Given the description of an element on the screen output the (x, y) to click on. 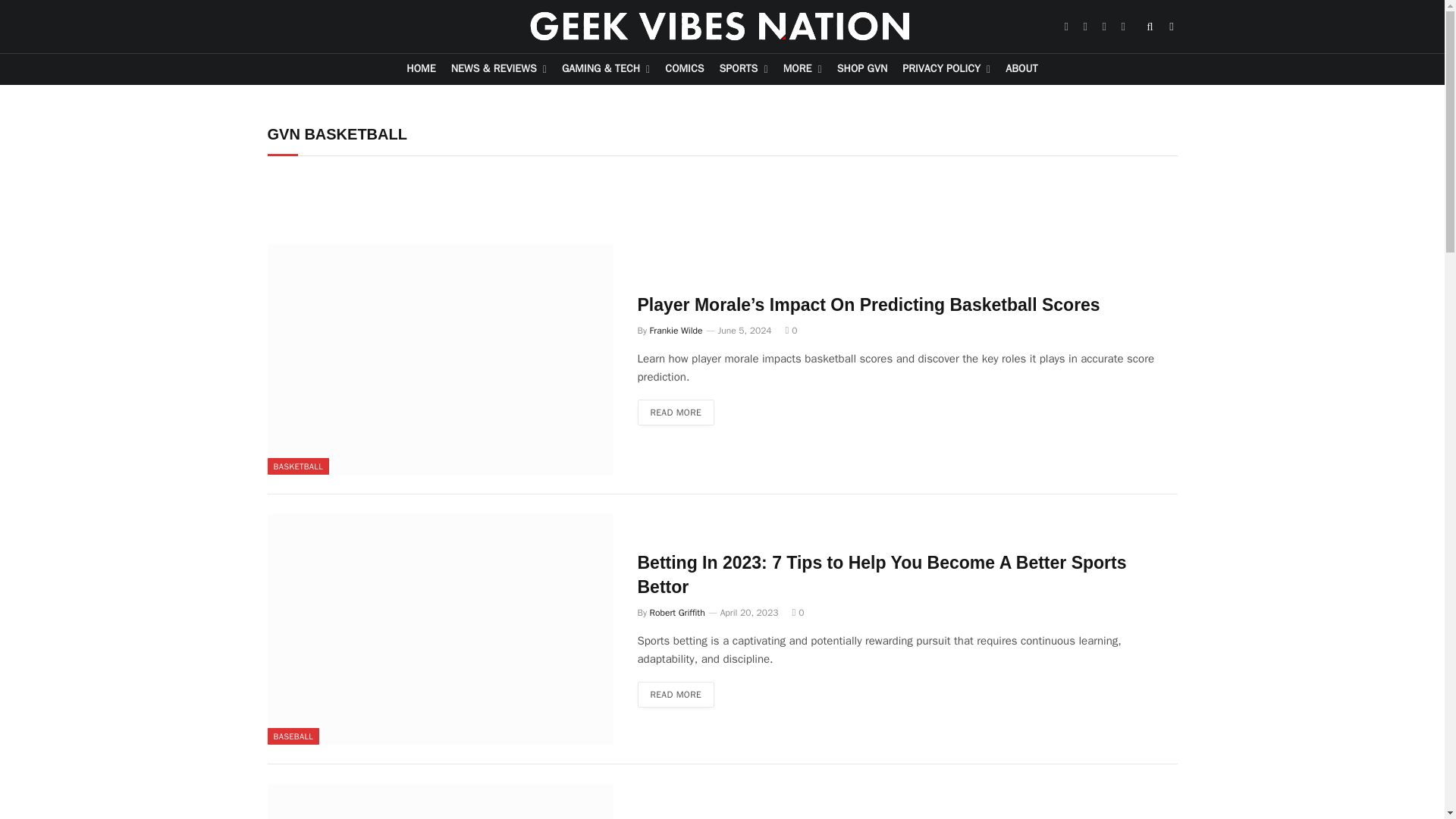
SHOP GVN (862, 69)
HOME (420, 69)
SPORTS (743, 69)
Instagram (1103, 26)
PRIVACY POLICY (946, 69)
MORE (802, 69)
TikTok (1122, 26)
COMICS (684, 69)
Switch to Dark Design - easier on eyes. (1170, 26)
Posts by Frankie Wilde (676, 330)
Geek Vibes Nation (722, 26)
Posts by Robert Griffith (676, 612)
Search (1149, 26)
Cavaliers vs Nets Odds And Picks For This Week (439, 801)
